Given the description of an element on the screen output the (x, y) to click on. 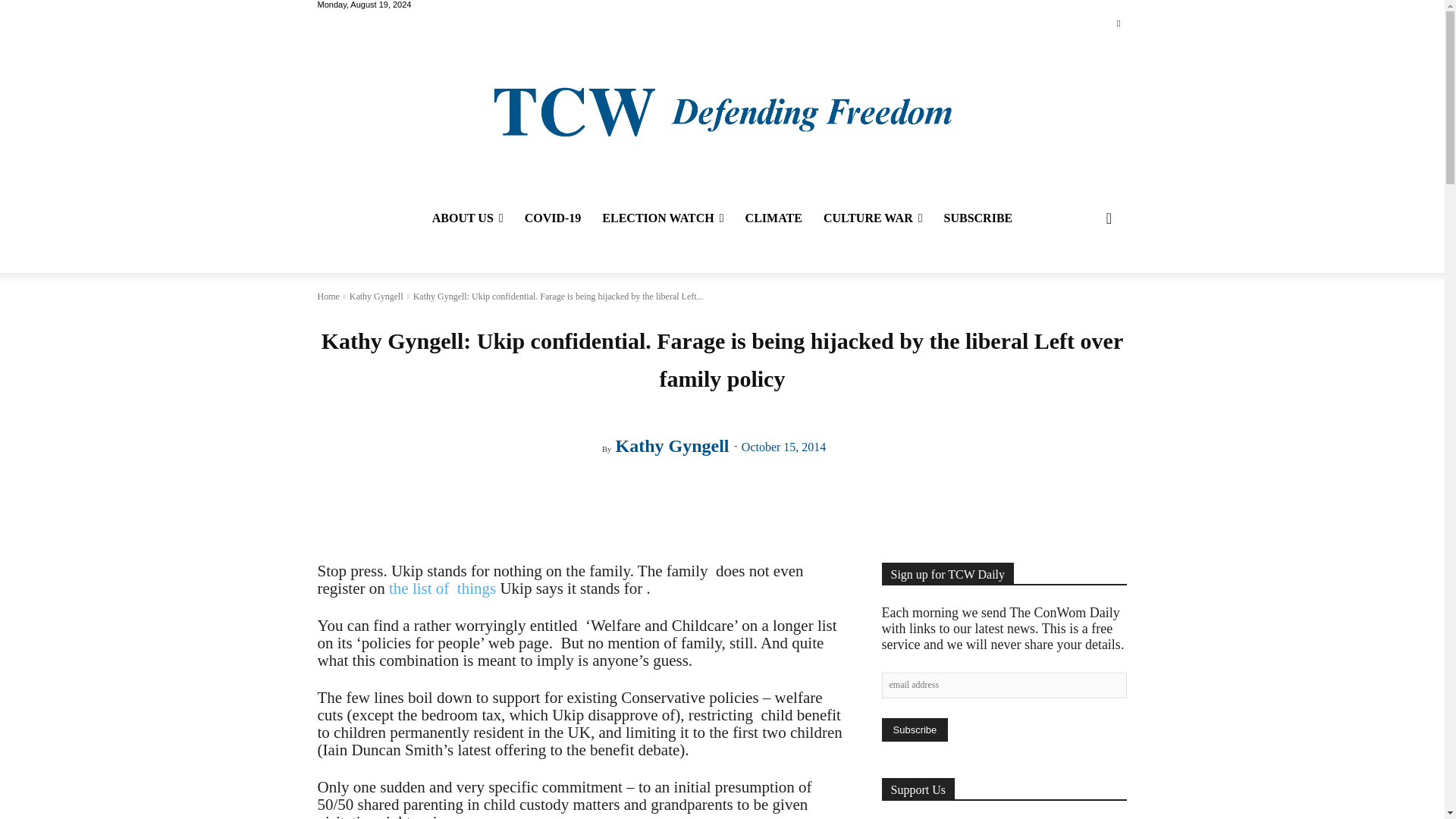
ABOUT US (467, 217)
ELECTION WATCH (662, 217)
Twitter (1117, 23)
View all posts in Kathy Gyngell (376, 296)
CLIMATE (773, 217)
The Conservative Woman (721, 110)
COVID-19 (552, 217)
Subscribe (913, 730)
CULTURE WAR (872, 217)
